Given the description of an element on the screen output the (x, y) to click on. 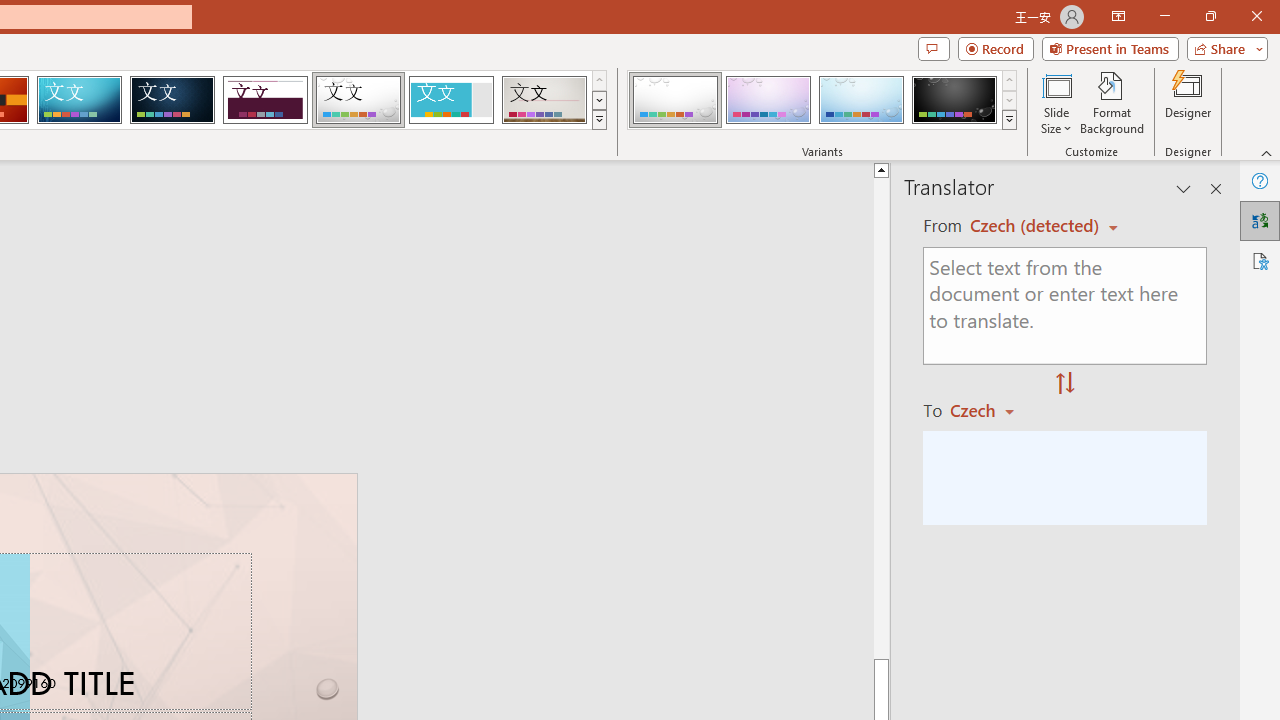
Droplet Variant 2 (768, 100)
Droplet Variant 3 (861, 100)
Damask (171, 100)
Dividend (265, 100)
Variants (1009, 120)
Frame (450, 100)
Circuit (79, 100)
Czech (991, 409)
